Given the description of an element on the screen output the (x, y) to click on. 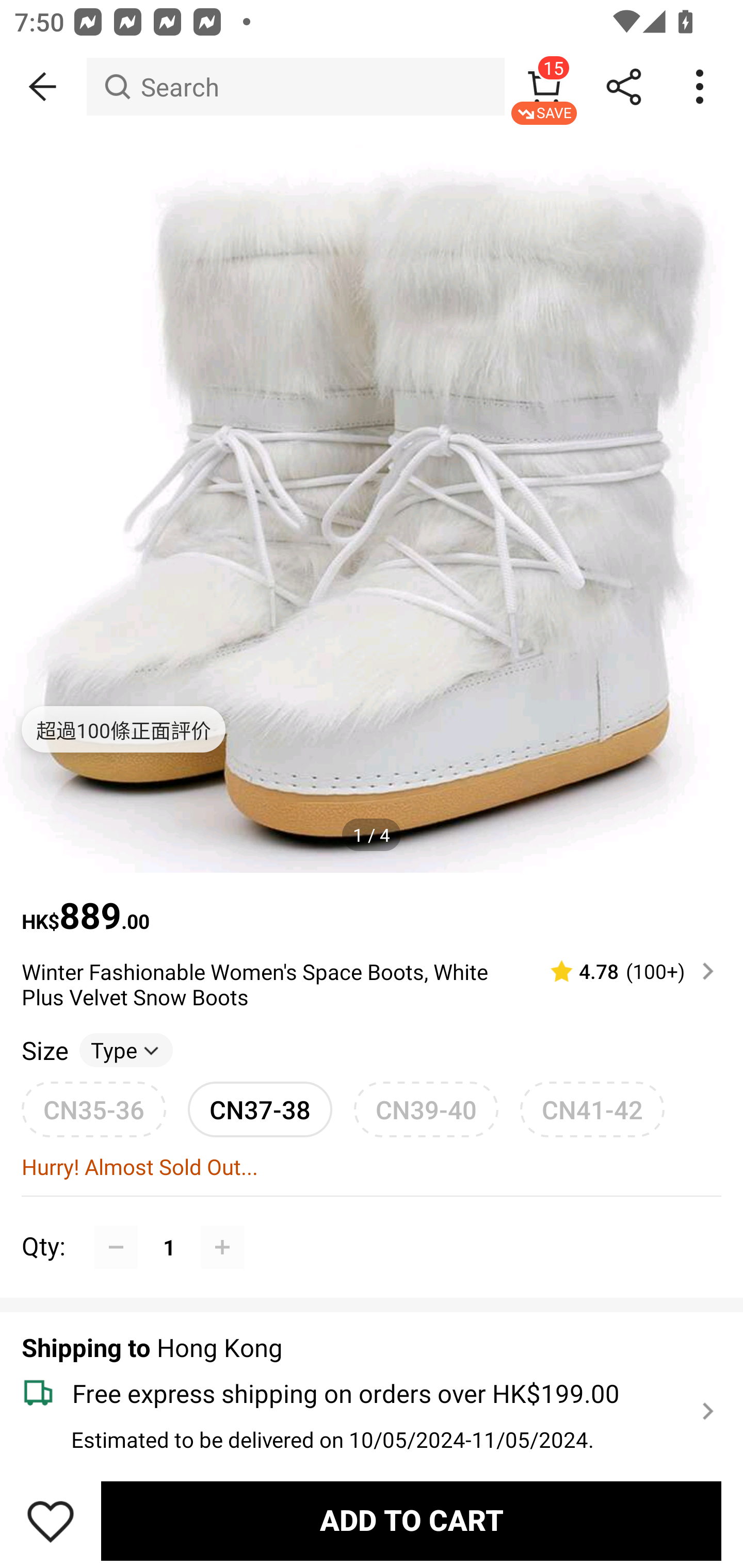
BACK (43, 86)
15 SAVE (543, 87)
Search (295, 87)
PHOTOS 1 / 4 超過100條正面評价 (371, 501)
1 / 4 (371, 834)
HK$889.00 (371, 906)
4.78 (100‎+) (623, 971)
Size (44, 1050)
Type (126, 1050)
CN35-36 (93, 1108)
CN37-38 CN37-38unselected option (259, 1108)
CN39-40 (425, 1108)
CN41-42 (592, 1108)
Hurry! Almost Sold Out... (371, 1166)
Qty: 1 (371, 1224)
ADD TO CART (411, 1520)
Save (50, 1520)
